Given the description of an element on the screen output the (x, y) to click on. 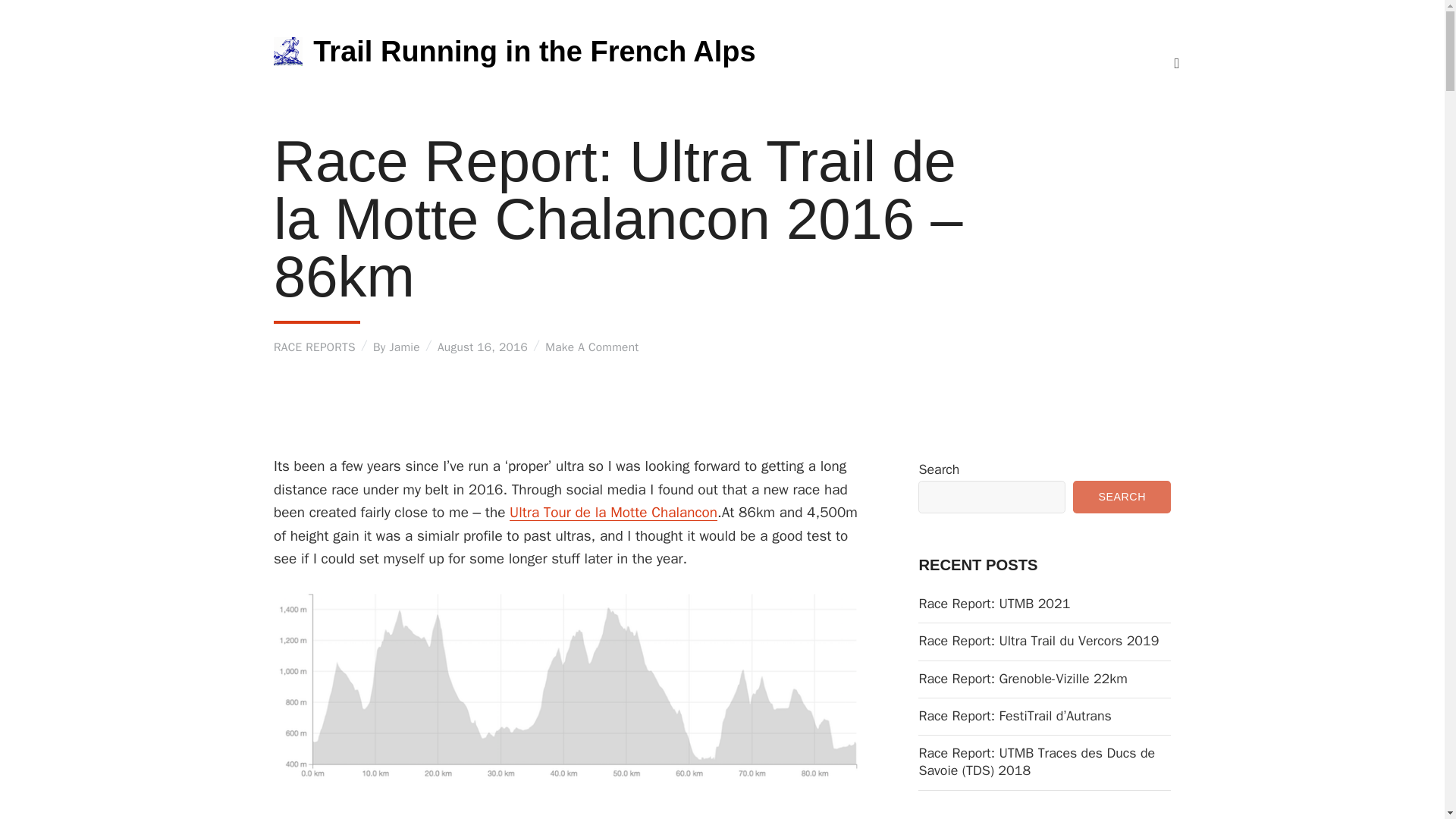
Race Report: Grenoble-Vizille 22km (1044, 678)
Trail Running in the French Alps (534, 51)
Ultra Tour de la Motte Chalancon (613, 512)
Race Report: Ultra Trail du Vercors 2019 (1044, 641)
SEARCH (1121, 497)
Race Report: UTMB 2021 (1044, 603)
August 16, 2016 (482, 346)
Jamie (403, 346)
RACE REPORTS (314, 346)
